Given the description of an element on the screen output the (x, y) to click on. 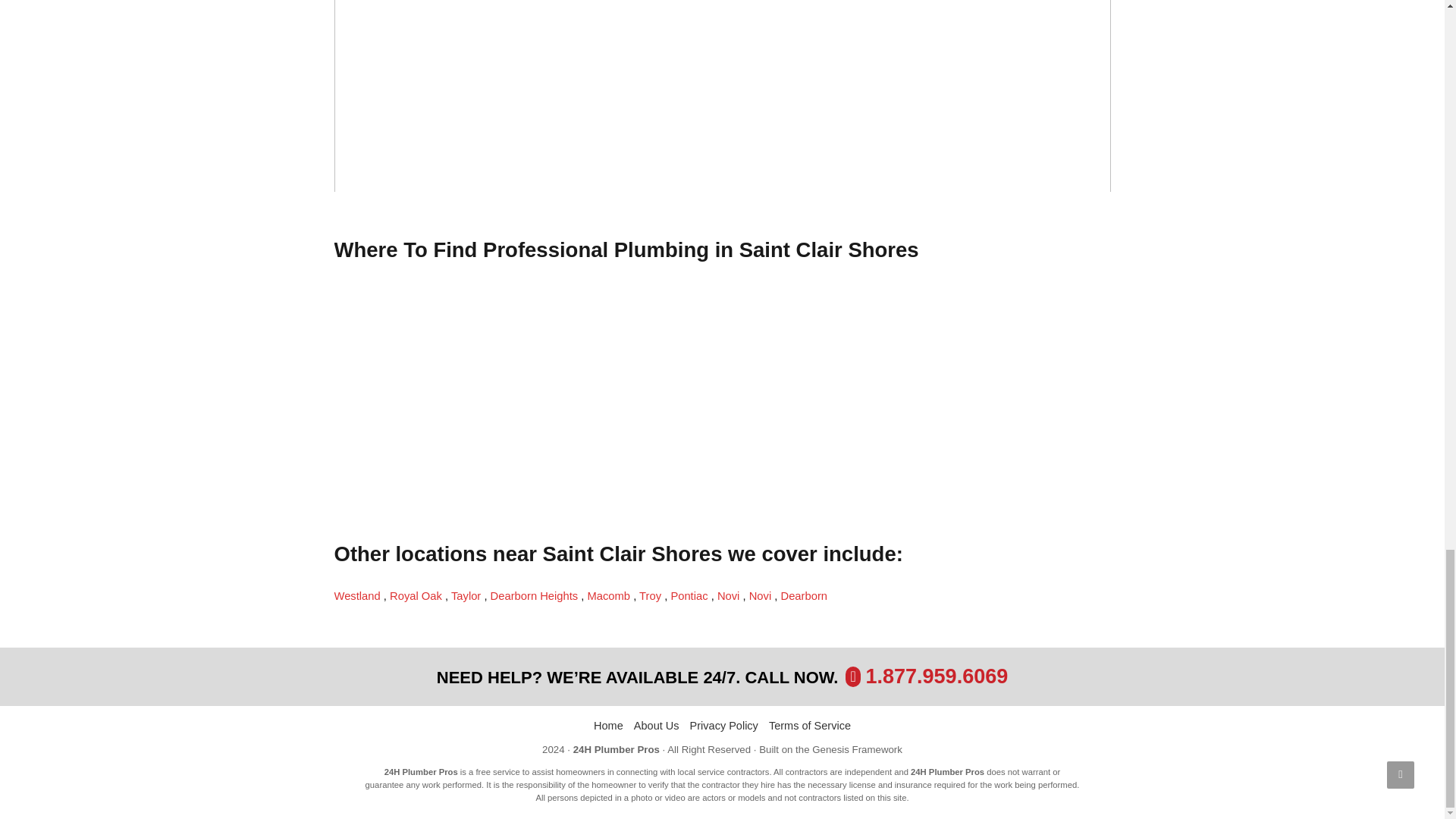
24H Plumber Pros (616, 749)
Emergency Plumber in Taylor, MI (467, 595)
Emergency Plumber in Royal Oak (417, 595)
Emergency Plumber in Dearborn, MI (804, 595)
Emergency Plumber Troy (651, 595)
1.877.959.6069 (937, 676)
Emergency Plumber in Macomb (609, 595)
Emergency Plumber in Novi, MI (729, 595)
Home (608, 726)
